Given the description of an element on the screen output the (x, y) to click on. 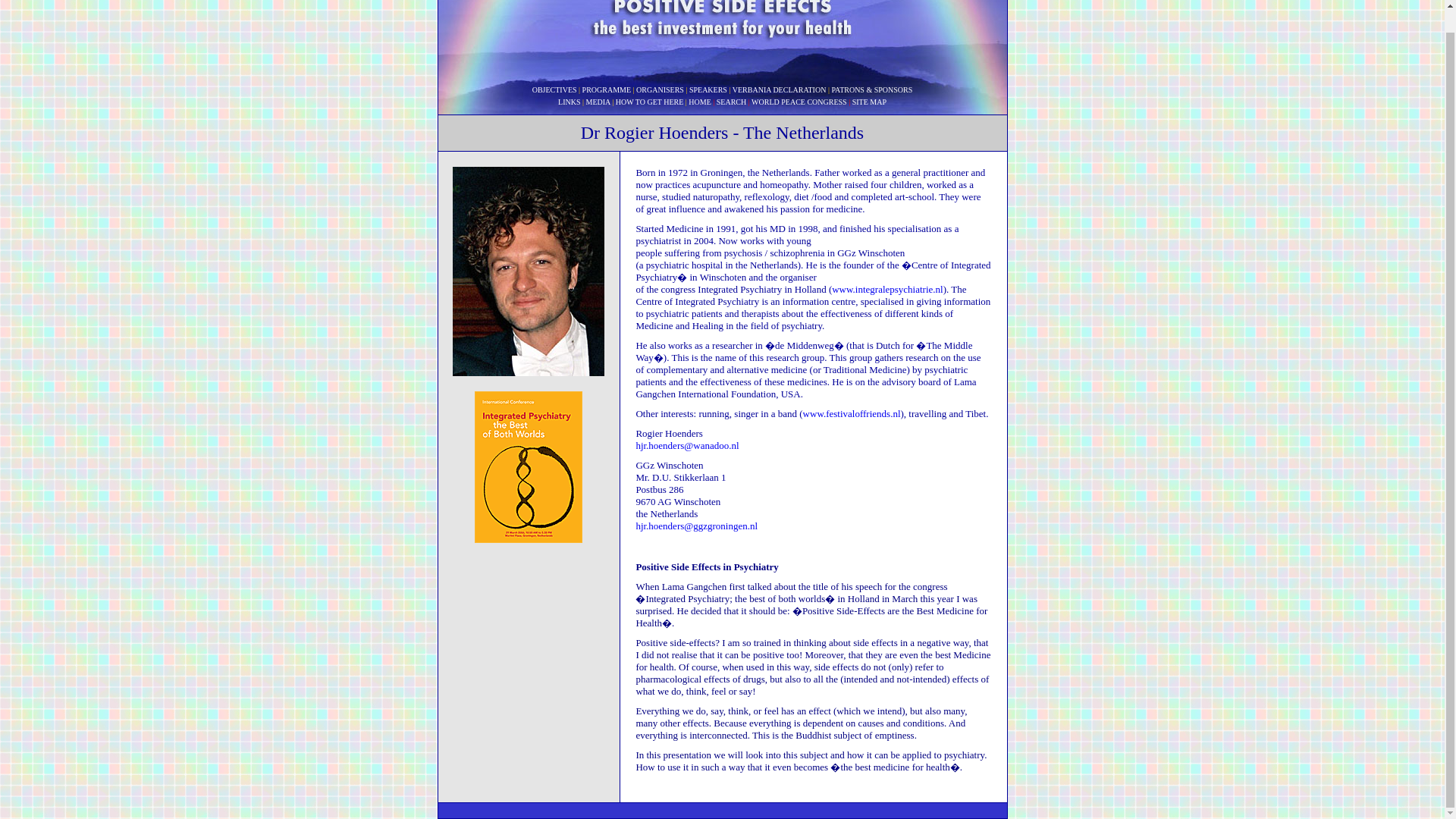
www.festivaloffriends.nl (852, 413)
MEDIA (597, 101)
SPEAKERS (707, 89)
HOME (699, 101)
WORLD PEACE CONGRESS (799, 101)
VERBANIA DECLARATION (779, 89)
HOW TO GET HERE (649, 101)
SITE MAP (868, 101)
www.integralepsychiatrie.nl (886, 288)
OBJECTIVES (554, 89)
LINKS (568, 101)
ORGANISERS (660, 89)
SEARCH (730, 101)
PROGRAMME (606, 89)
